Given the description of an element on the screen output the (x, y) to click on. 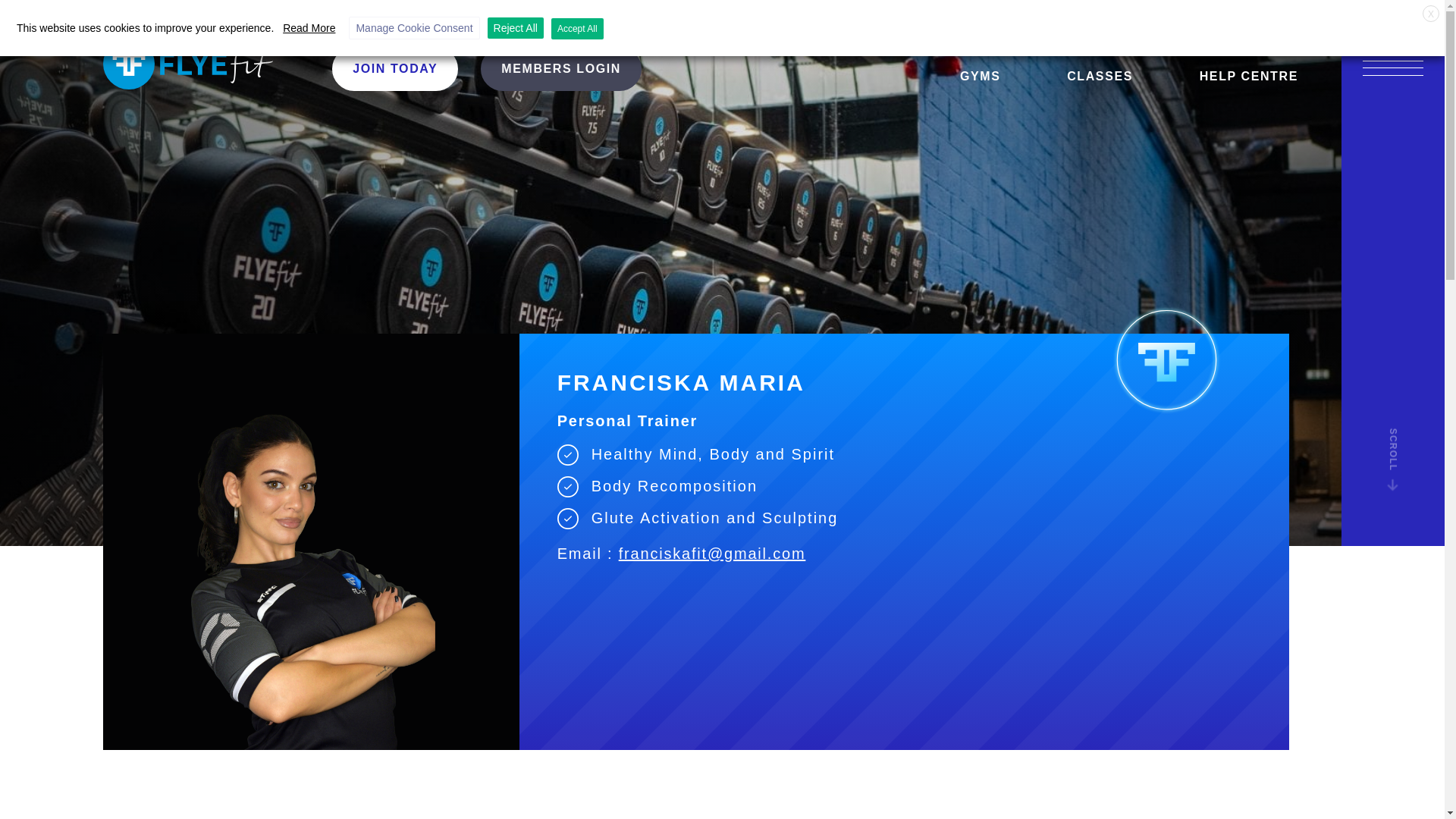
HELP CENTRE (1248, 76)
FLYEfit (205, 63)
CLASSES (1099, 76)
GYMS (980, 76)
JOIN TODAY (395, 69)
Close and Accept (1430, 13)
MEMBERS LOGIN (560, 69)
